Given the description of an element on the screen output the (x, y) to click on. 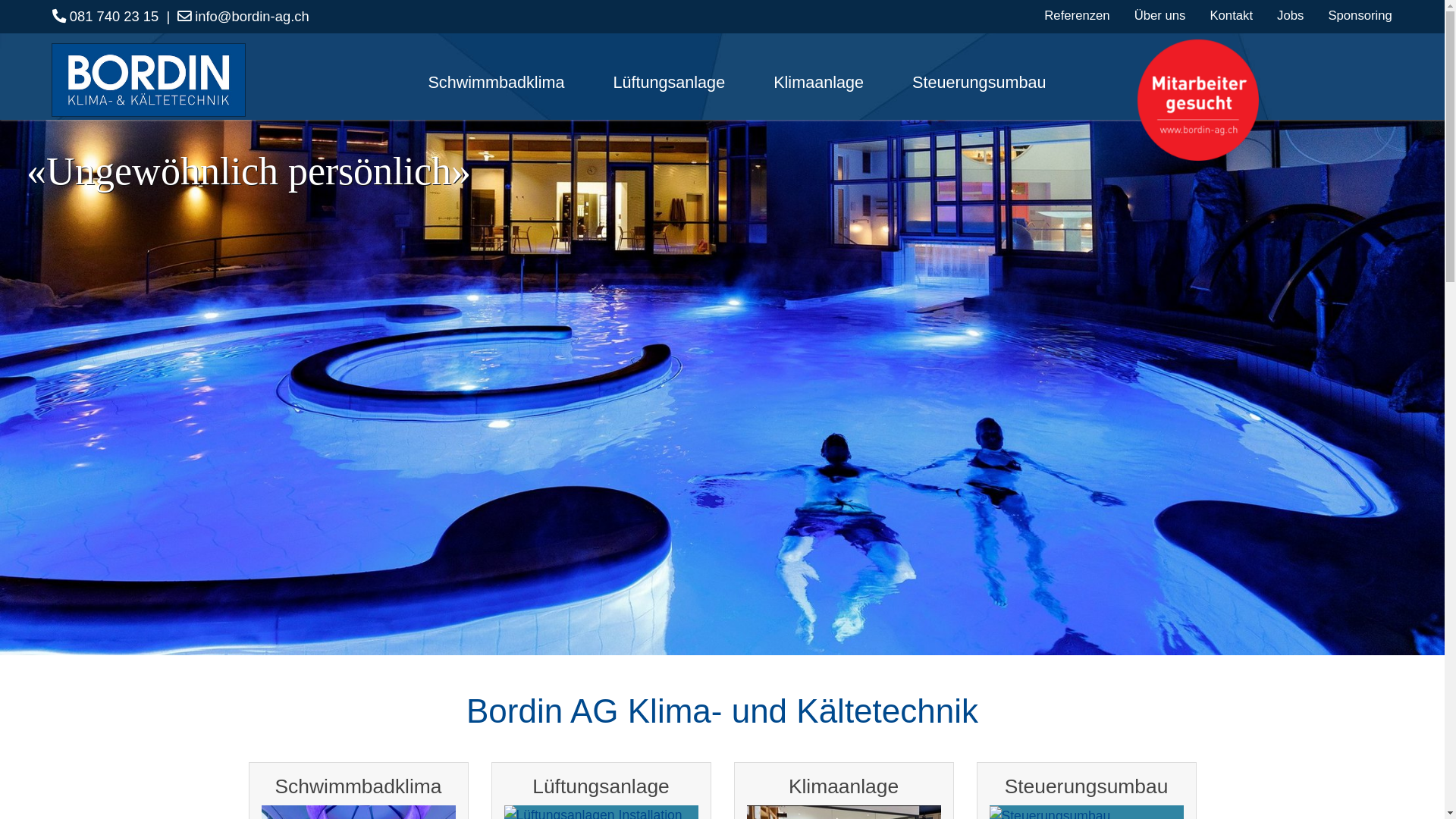
Freie Jobs bei Bordin AG Maienfeld Element type: hover (1197, 99)
Klimaanlage Element type: text (818, 82)
  081 740 23 15 Element type: text (105, 16)
Referenzen Element type: text (1076, 15)
Steuerungsumbau Element type: text (972, 82)
Kontakt Element type: text (1230, 15)
info@bordin-ag.ch Element type: text (242, 16)
Schwimmbadklima Element type: text (495, 82)
Sponsoring Element type: text (1359, 15)
Jobs Element type: text (1289, 15)
